Given the description of an element on the screen output the (x, y) to click on. 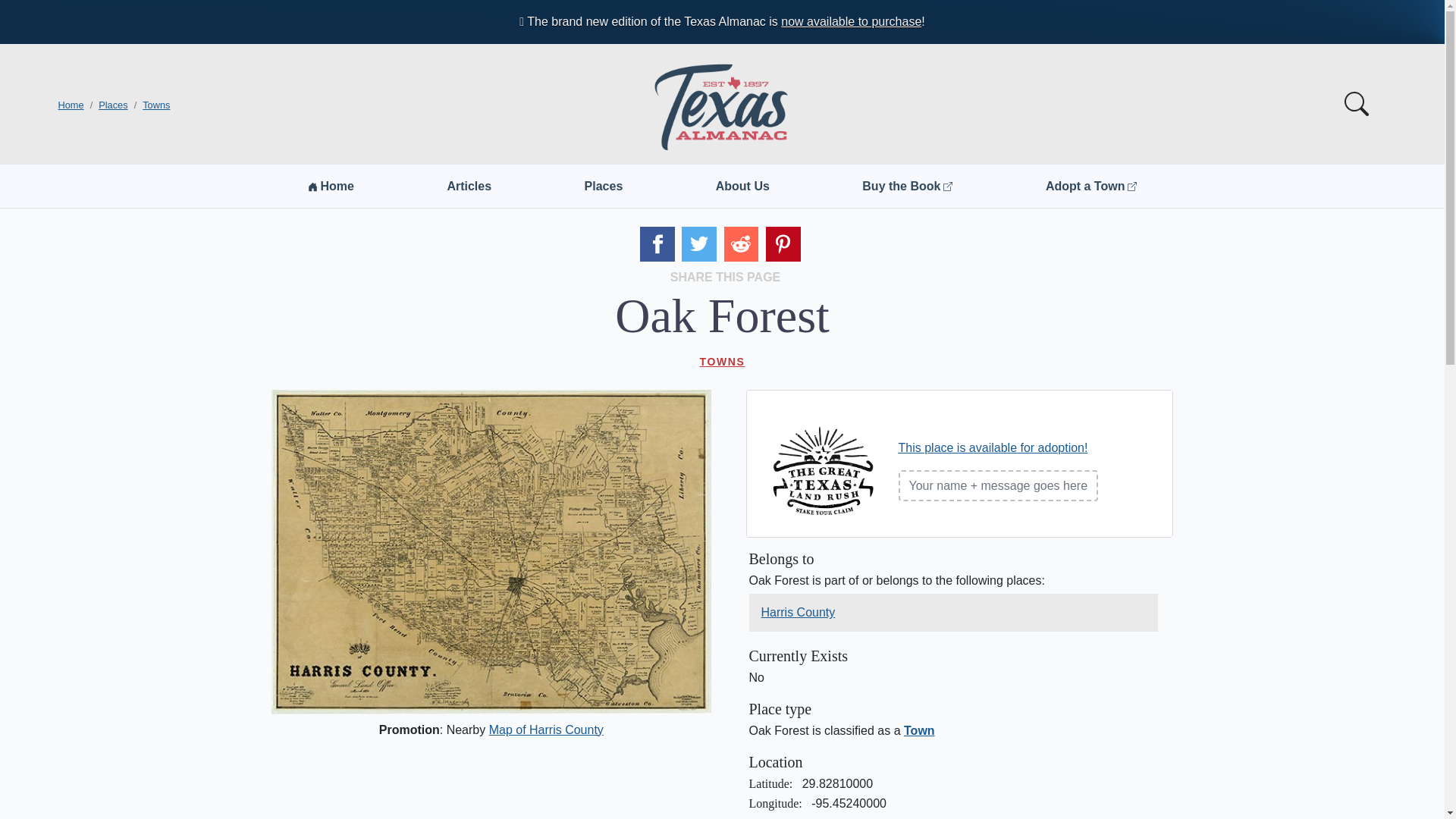
Map of Harris County (546, 729)
Home (70, 105)
This place is available for adoption! (992, 447)
now available to purchase (850, 21)
Articles (469, 186)
About Us (743, 186)
Harris County (798, 612)
Adopt a Town (1090, 186)
Towns (156, 105)
TOWNS (722, 361)
Town (919, 730)
Home (330, 186)
Buy the Book (907, 186)
Places (603, 186)
Places (113, 105)
